Given the description of an element on the screen output the (x, y) to click on. 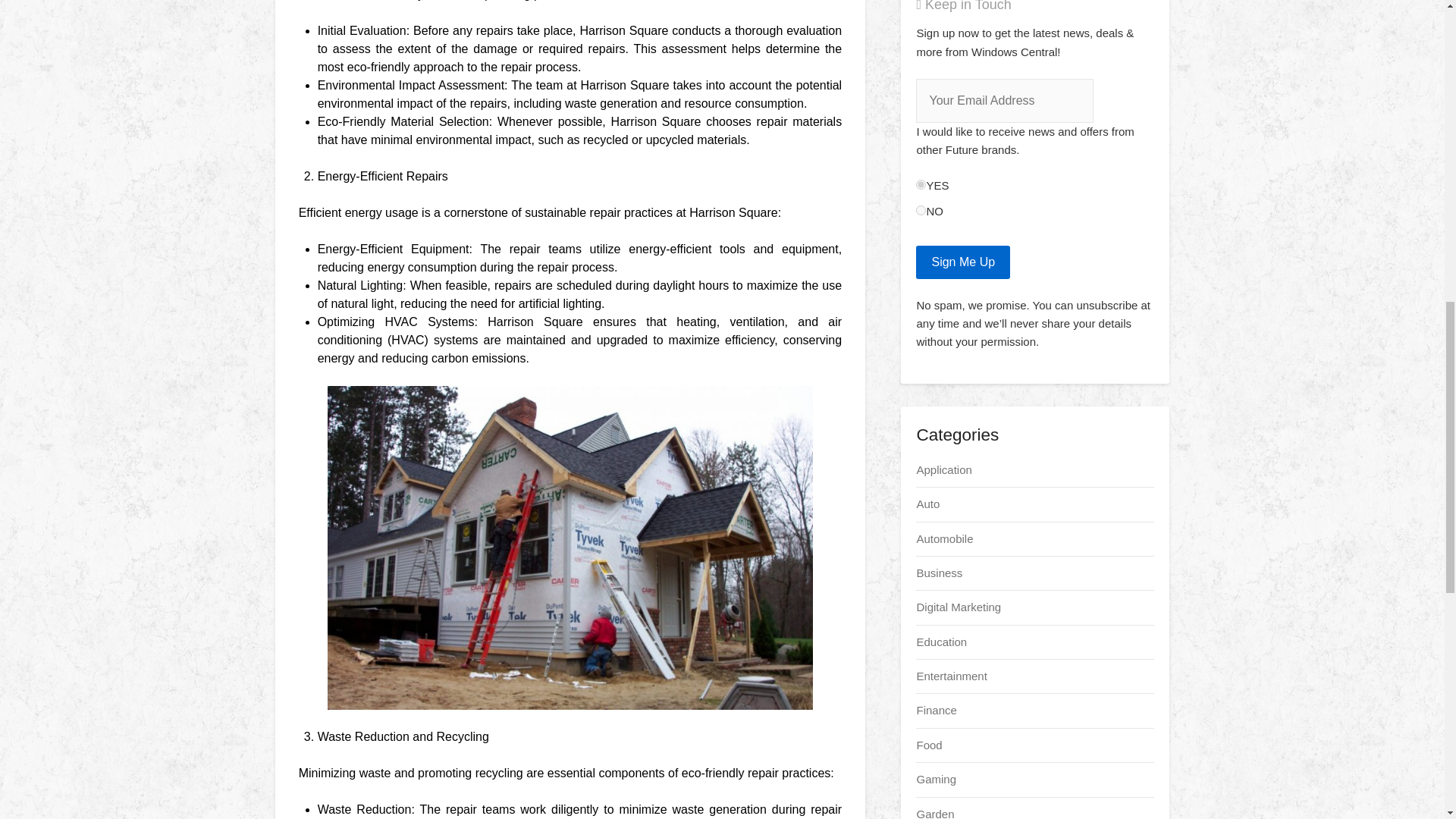
Business (938, 572)
Auto (927, 503)
Gaming (935, 779)
Automobile (943, 538)
Application (943, 469)
1 (920, 184)
Education (940, 641)
0 (920, 210)
Garden (934, 813)
Finance (935, 709)
Food (928, 744)
Entertainment (951, 675)
Sign Me Up (962, 262)
Digital Marketing (958, 606)
